Given the description of an element on the screen output the (x, y) to click on. 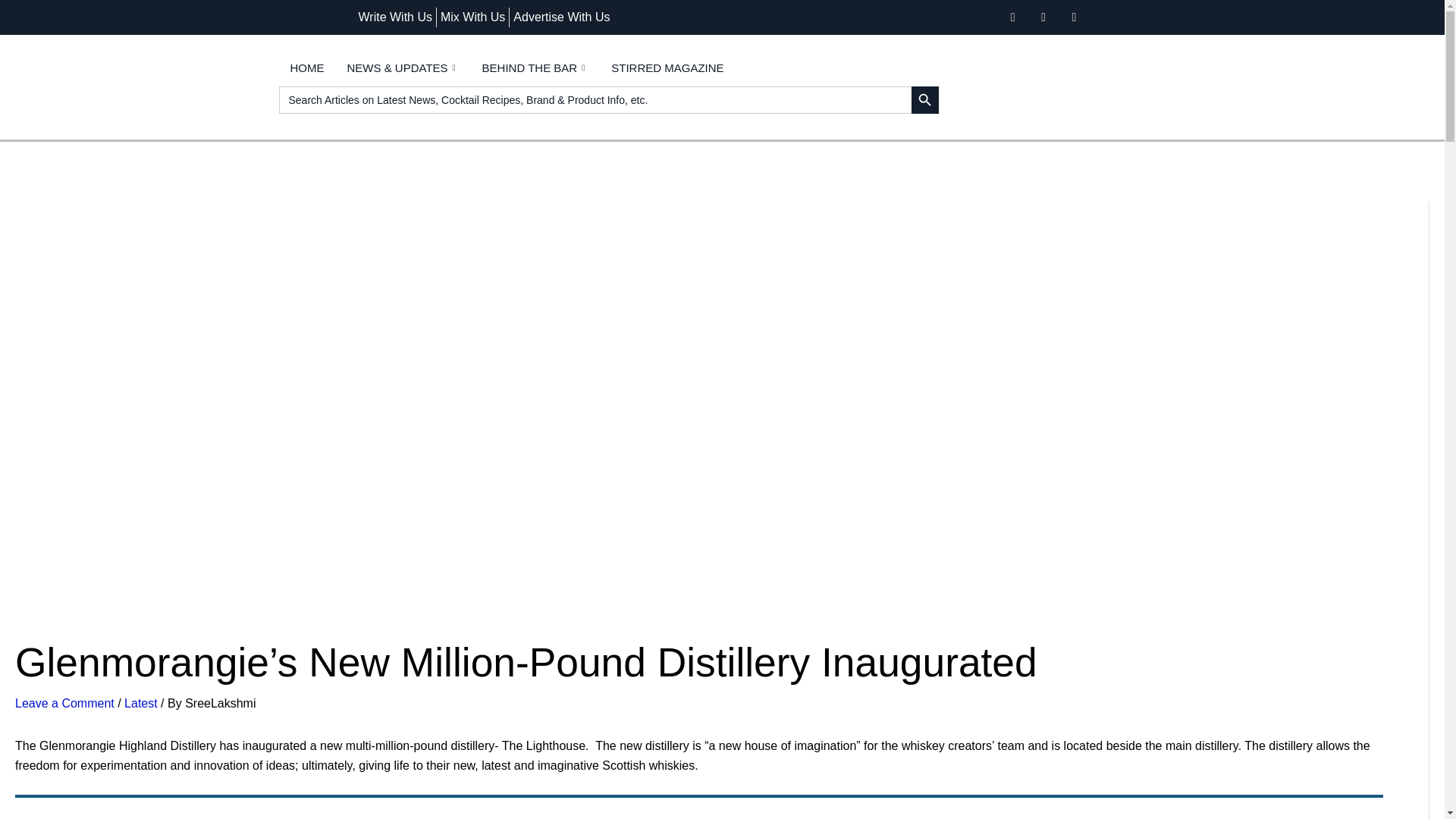
Search Button (925, 99)
View all posts by SreeLakshmi (220, 703)
STIRRED MAGAZINE (667, 67)
Advertise With Us (561, 17)
Mix With Us (473, 17)
Latest (140, 703)
Write With Us (393, 17)
BEHIND THE BAR (534, 67)
SreeLakshmi (220, 703)
Leave a Comment (64, 703)
HOME (307, 67)
